Given the description of an element on the screen output the (x, y) to click on. 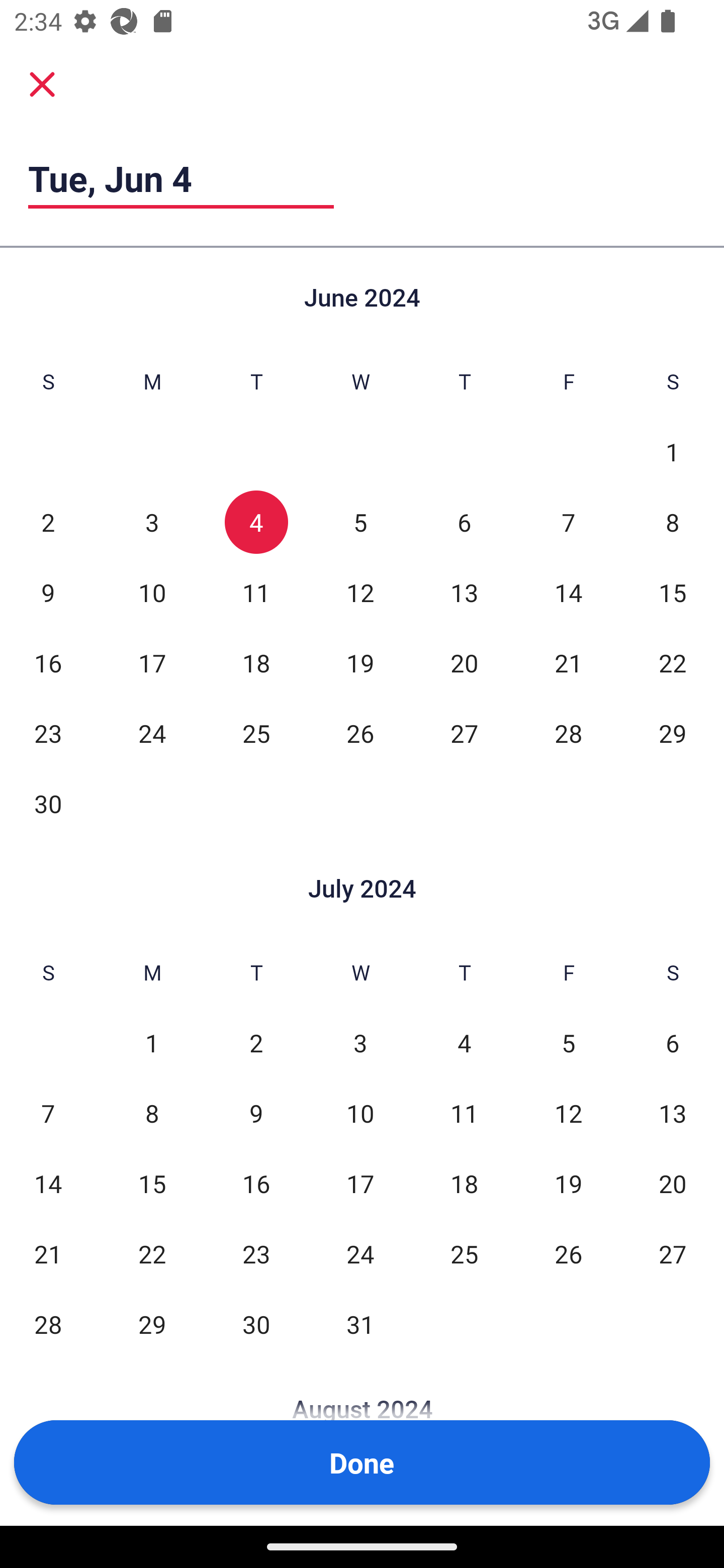
Cancel (41, 83)
Tue, Jun 4 (180, 178)
1 Sat, Jun 1, Not Selected (672, 452)
2 Sun, Jun 2, Not Selected (48, 521)
3 Mon, Jun 3, Not Selected (152, 521)
4 Tue, Jun 4, Selected (256, 521)
5 Wed, Jun 5, Not Selected (360, 521)
6 Thu, Jun 6, Not Selected (464, 521)
7 Fri, Jun 7, Not Selected (568, 521)
8 Sat, Jun 8, Not Selected (672, 521)
9 Sun, Jun 9, Not Selected (48, 591)
10 Mon, Jun 10, Not Selected (152, 591)
11 Tue, Jun 11, Not Selected (256, 591)
12 Wed, Jun 12, Not Selected (360, 591)
13 Thu, Jun 13, Not Selected (464, 591)
14 Fri, Jun 14, Not Selected (568, 591)
15 Sat, Jun 15, Not Selected (672, 591)
16 Sun, Jun 16, Not Selected (48, 662)
17 Mon, Jun 17, Not Selected (152, 662)
18 Tue, Jun 18, Not Selected (256, 662)
19 Wed, Jun 19, Not Selected (360, 662)
20 Thu, Jun 20, Not Selected (464, 662)
21 Fri, Jun 21, Not Selected (568, 662)
22 Sat, Jun 22, Not Selected (672, 662)
23 Sun, Jun 23, Not Selected (48, 732)
24 Mon, Jun 24, Not Selected (152, 732)
25 Tue, Jun 25, Not Selected (256, 732)
26 Wed, Jun 26, Not Selected (360, 732)
27 Thu, Jun 27, Not Selected (464, 732)
28 Fri, Jun 28, Not Selected (568, 732)
29 Sat, Jun 29, Not Selected (672, 732)
30 Sun, Jun 30, Not Selected (48, 803)
1 Mon, Jul 1, Not Selected (152, 1043)
2 Tue, Jul 2, Not Selected (256, 1043)
3 Wed, Jul 3, Not Selected (360, 1043)
4 Thu, Jul 4, Not Selected (464, 1043)
5 Fri, Jul 5, Not Selected (568, 1043)
6 Sat, Jul 6, Not Selected (672, 1043)
7 Sun, Jul 7, Not Selected (48, 1112)
8 Mon, Jul 8, Not Selected (152, 1112)
9 Tue, Jul 9, Not Selected (256, 1112)
10 Wed, Jul 10, Not Selected (360, 1112)
11 Thu, Jul 11, Not Selected (464, 1112)
12 Fri, Jul 12, Not Selected (568, 1112)
13 Sat, Jul 13, Not Selected (672, 1112)
14 Sun, Jul 14, Not Selected (48, 1182)
15 Mon, Jul 15, Not Selected (152, 1182)
16 Tue, Jul 16, Not Selected (256, 1182)
17 Wed, Jul 17, Not Selected (360, 1182)
18 Thu, Jul 18, Not Selected (464, 1182)
19 Fri, Jul 19, Not Selected (568, 1182)
20 Sat, Jul 20, Not Selected (672, 1182)
21 Sun, Jul 21, Not Selected (48, 1253)
22 Mon, Jul 22, Not Selected (152, 1253)
23 Tue, Jul 23, Not Selected (256, 1253)
24 Wed, Jul 24, Not Selected (360, 1253)
25 Thu, Jul 25, Not Selected (464, 1253)
26 Fri, Jul 26, Not Selected (568, 1253)
27 Sat, Jul 27, Not Selected (672, 1253)
28 Sun, Jul 28, Not Selected (48, 1323)
29 Mon, Jul 29, Not Selected (152, 1323)
30 Tue, Jul 30, Not Selected (256, 1323)
31 Wed, Jul 31, Not Selected (360, 1323)
Done Button Done (361, 1462)
